Given the description of an element on the screen output the (x, y) to click on. 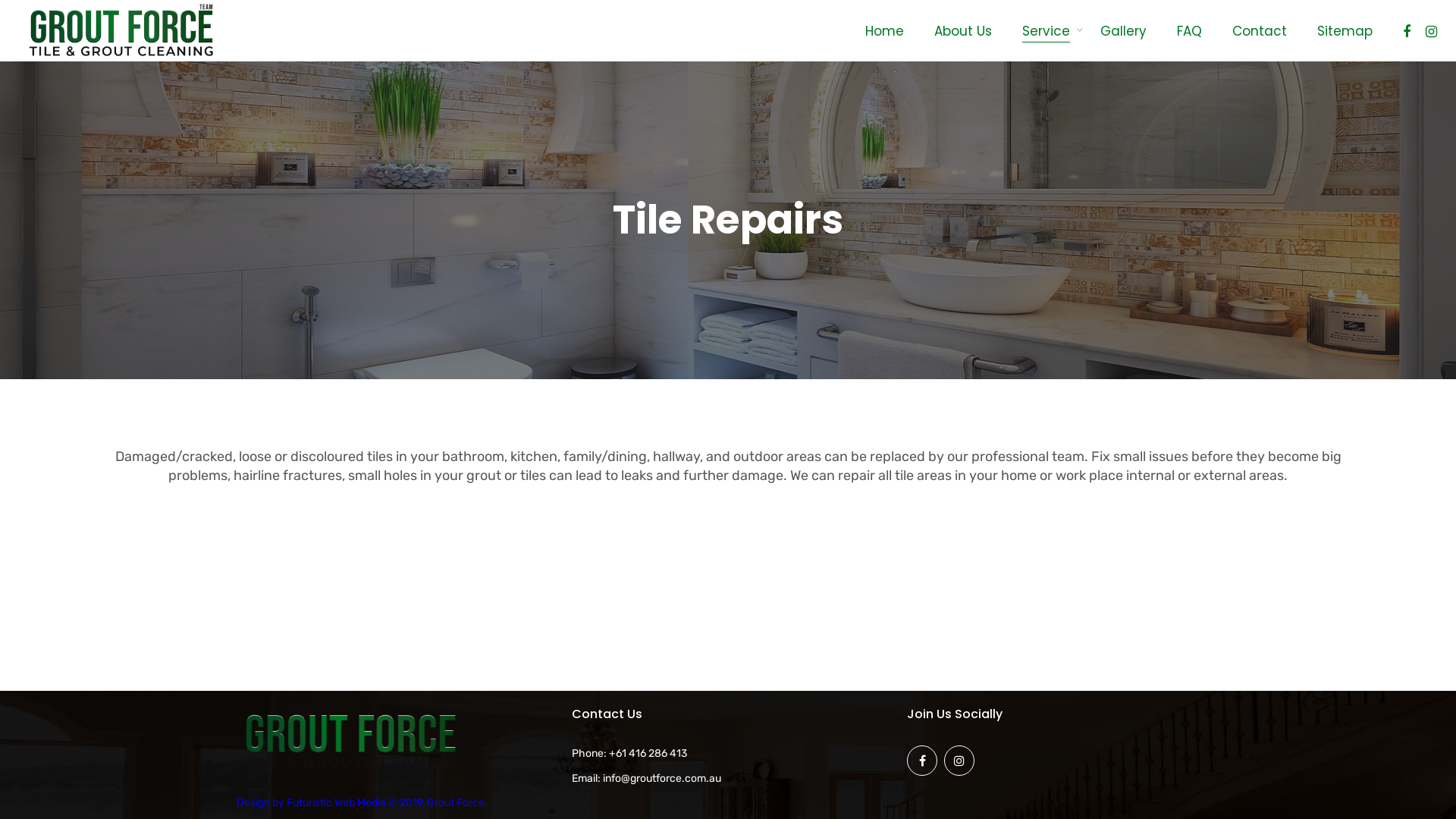
Futuristic Web Media Element type: text (335, 802)
info@groutforce.com.au Element type: text (661, 777)
FAQ Element type: text (1189, 30)
+61 416 286 413 Element type: text (647, 752)
About Us Element type: text (963, 30)
Gallery Element type: text (1123, 30)
Sitemap Element type: text (1344, 30)
Skip to content Element type: text (0, 0)
Service Element type: text (1046, 30)
Home Element type: text (884, 30)
Contact Element type: text (1259, 30)
